Given the description of an element on the screen output the (x, y) to click on. 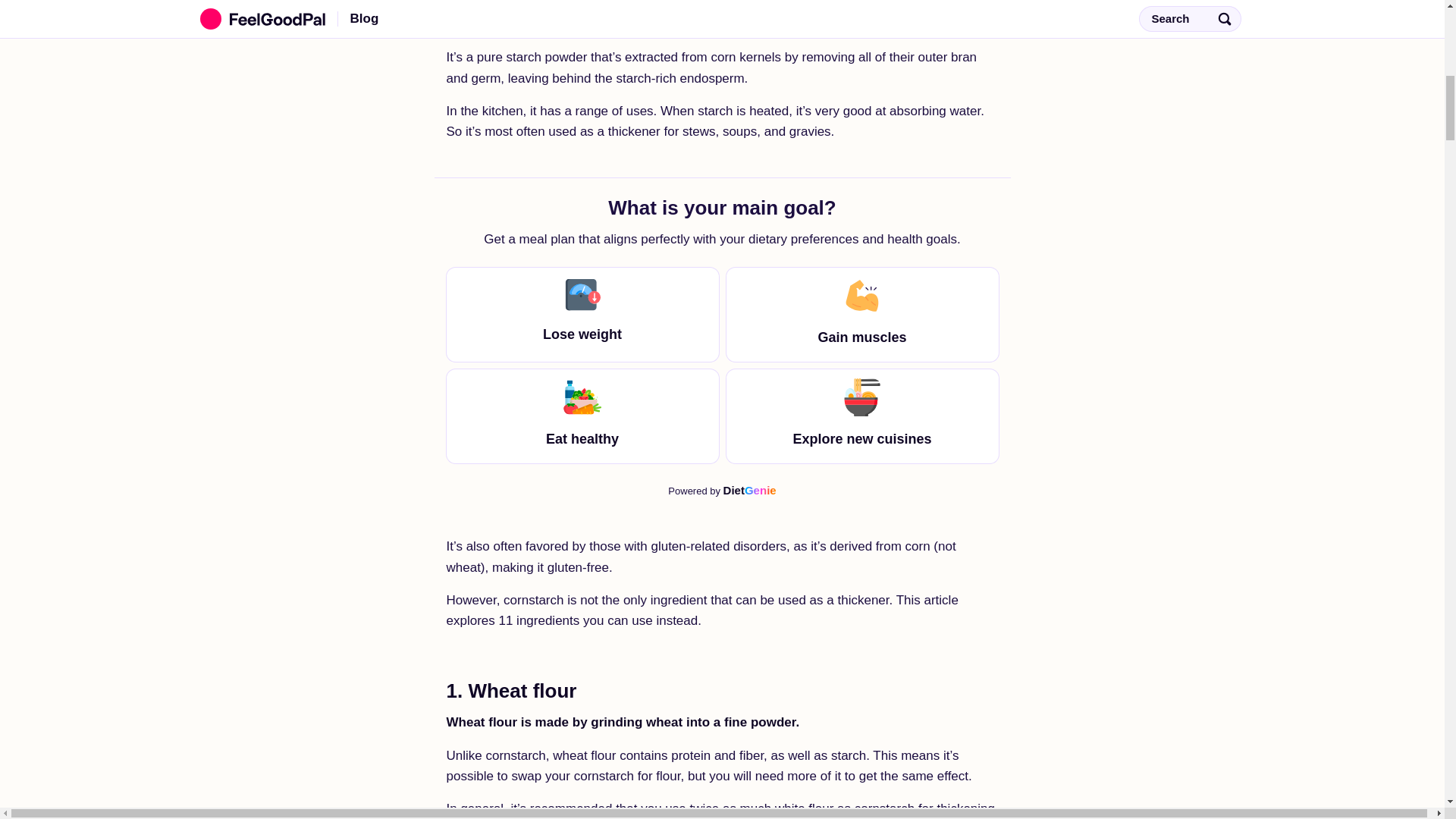
Gain muscles (862, 314)
Lose weight (581, 314)
Eat healthy (581, 416)
Explore new cuisines (862, 416)
